Given the description of an element on the screen output the (x, y) to click on. 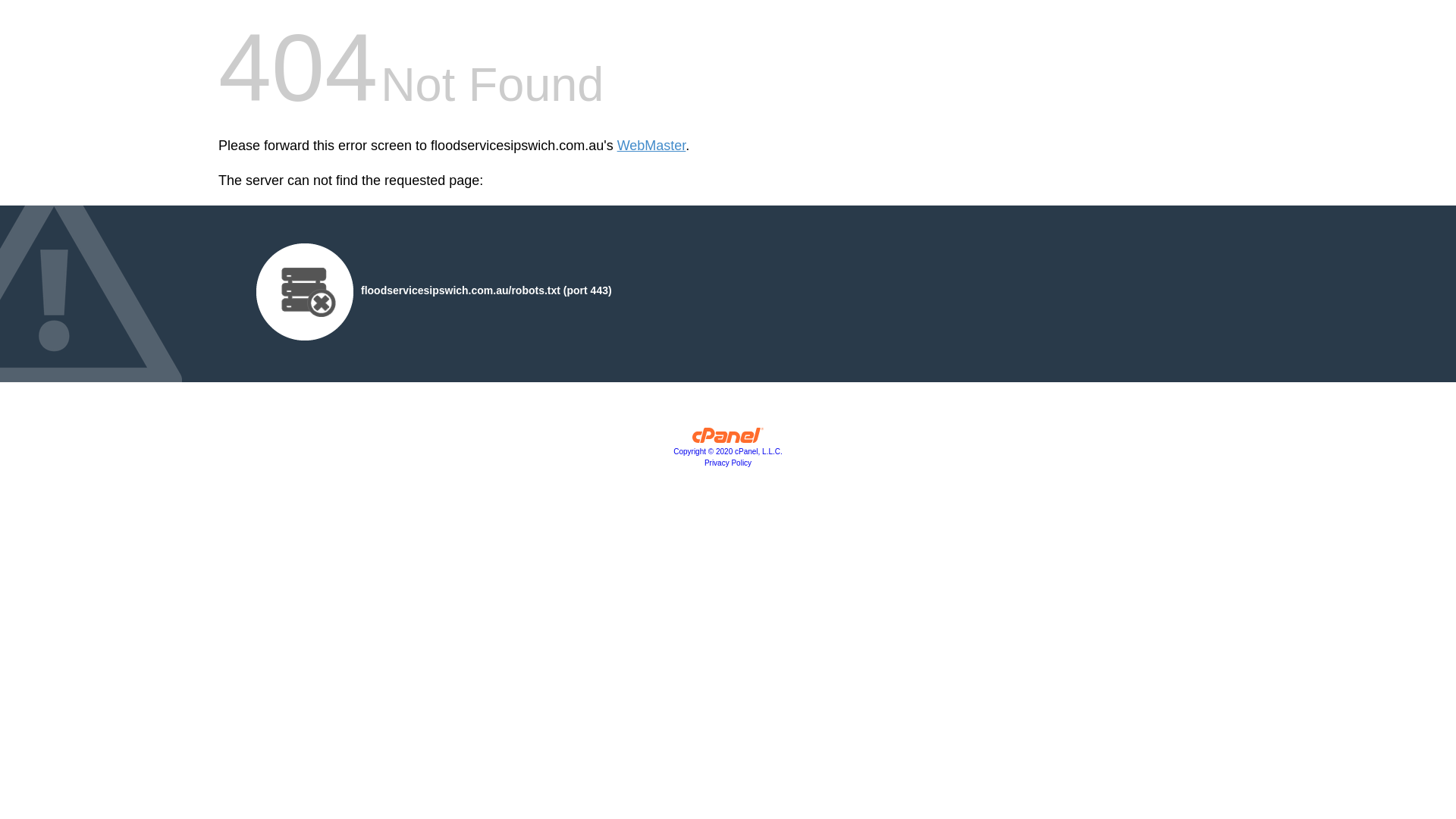
Privacy Policy Element type: text (727, 462)
WebMaster Element type: text (651, 145)
cPanel, Inc. Element type: hover (728, 439)
